Given the description of an element on the screen output the (x, y) to click on. 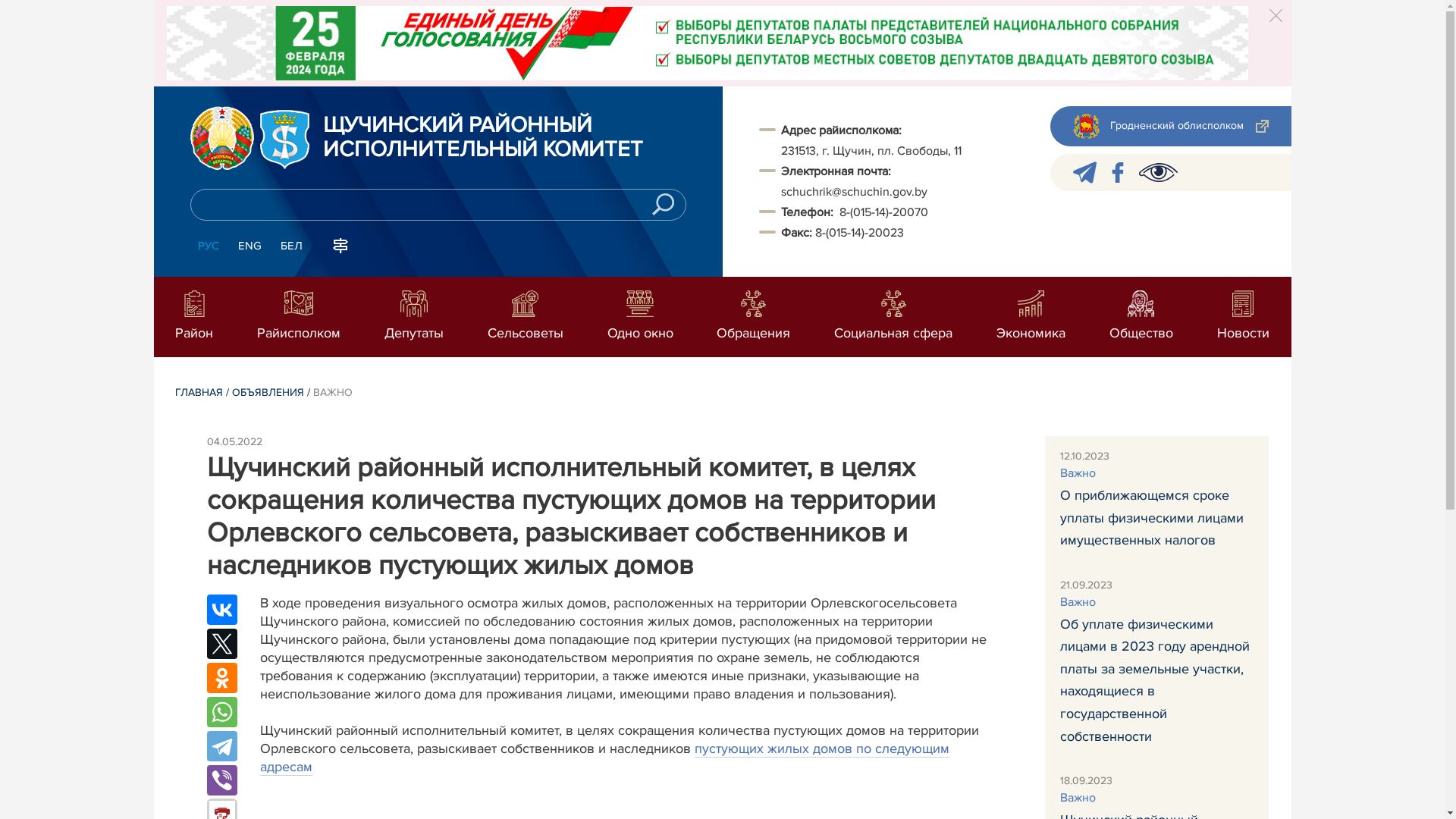
telegram Element type: hover (1083, 172)
Twitter Element type: hover (221, 643)
facebook Element type: hover (1117, 172)
ENG Element type: text (249, 246)
Viber Element type: hover (221, 780)
WhatsApp Element type: hover (221, 711)
Telegram Element type: hover (221, 746)
